Given the description of an element on the screen output the (x, y) to click on. 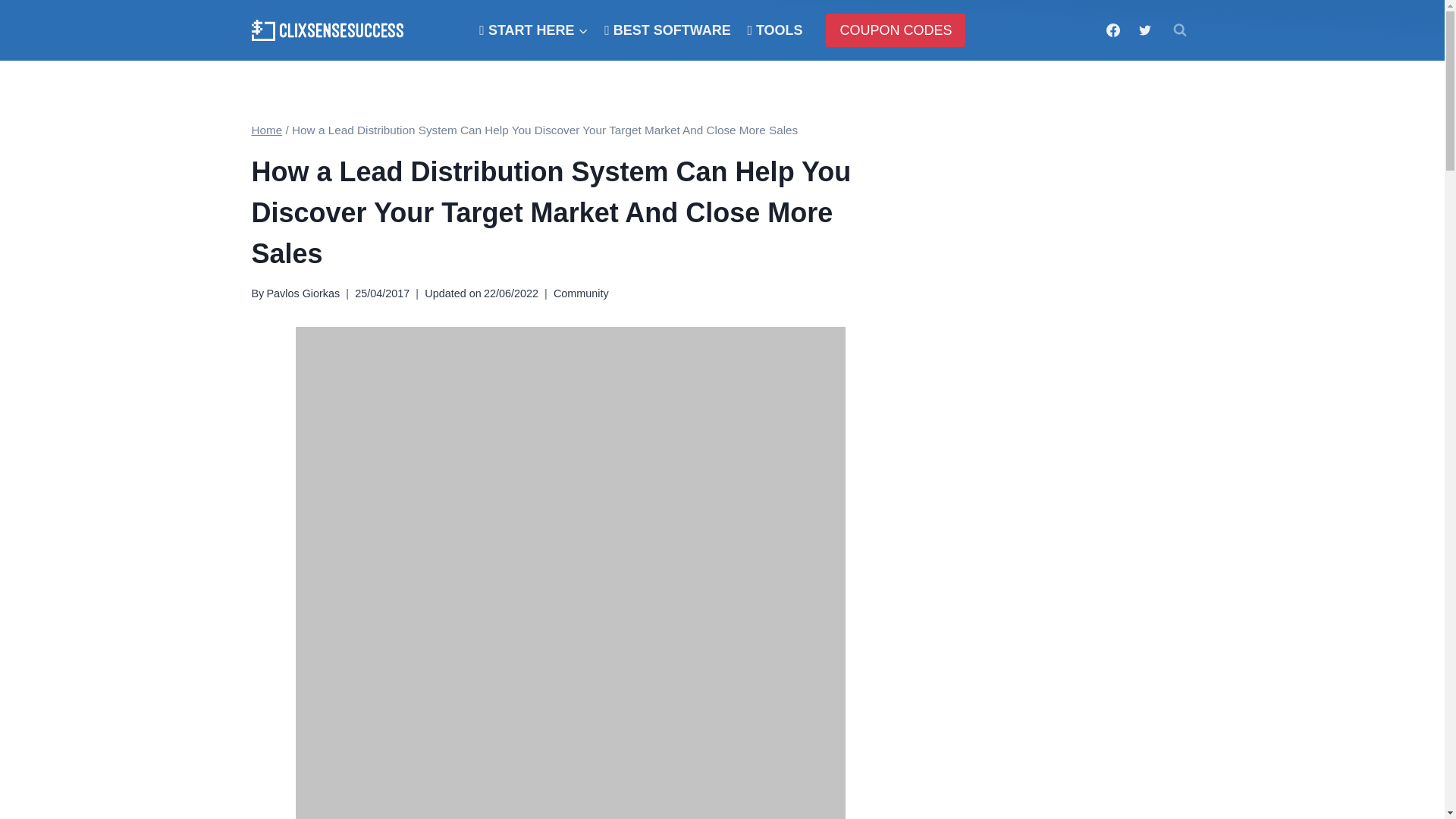
Pavlos Giorkas (302, 293)
COUPON CODES (895, 29)
Community (580, 293)
Home (266, 129)
My favourite Tools that helped me Skyrocket My Business (774, 30)
